Given the description of an element on the screen output the (x, y) to click on. 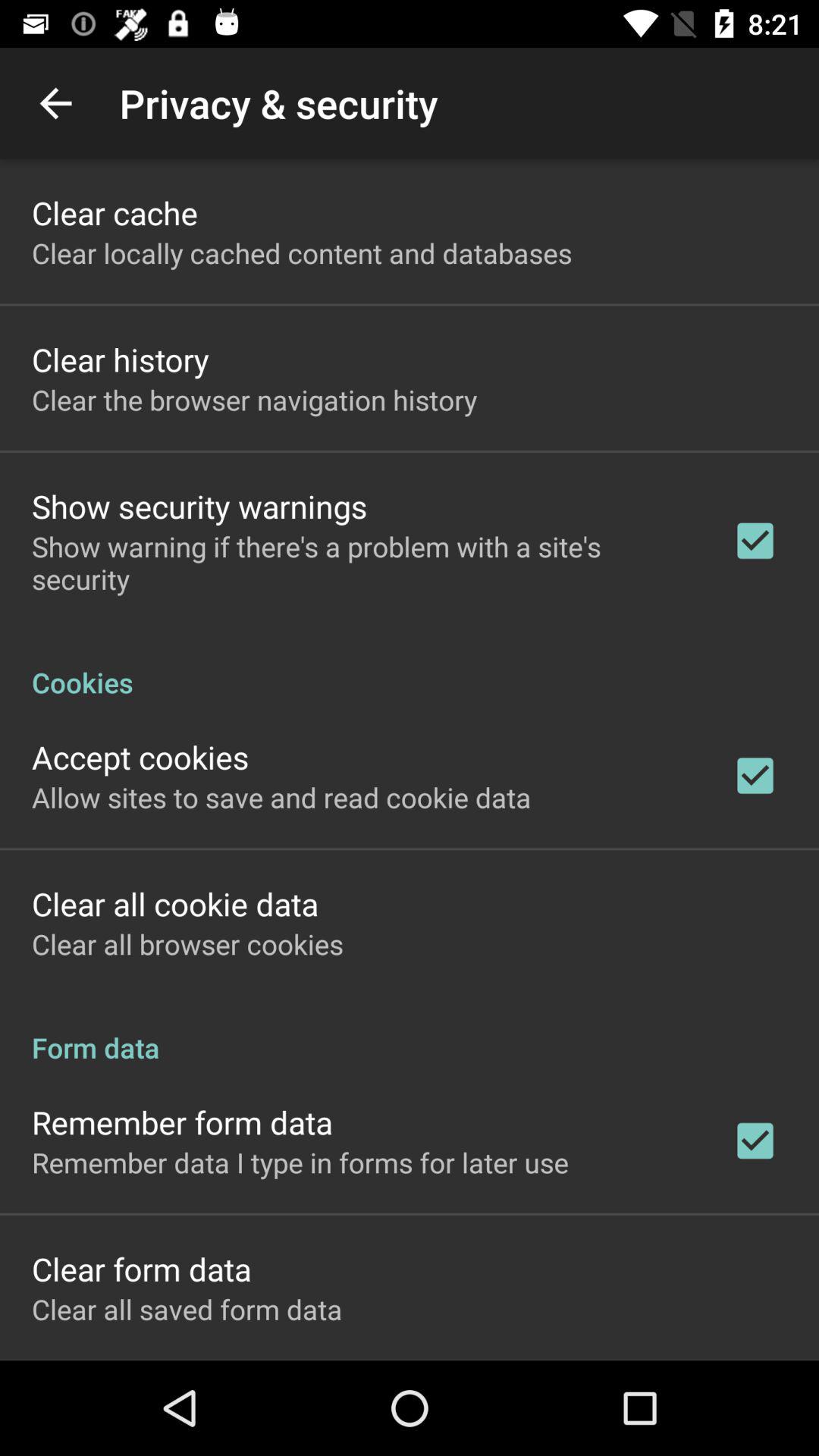
jump until clear locally cached (301, 252)
